Given the description of an element on the screen output the (x, y) to click on. 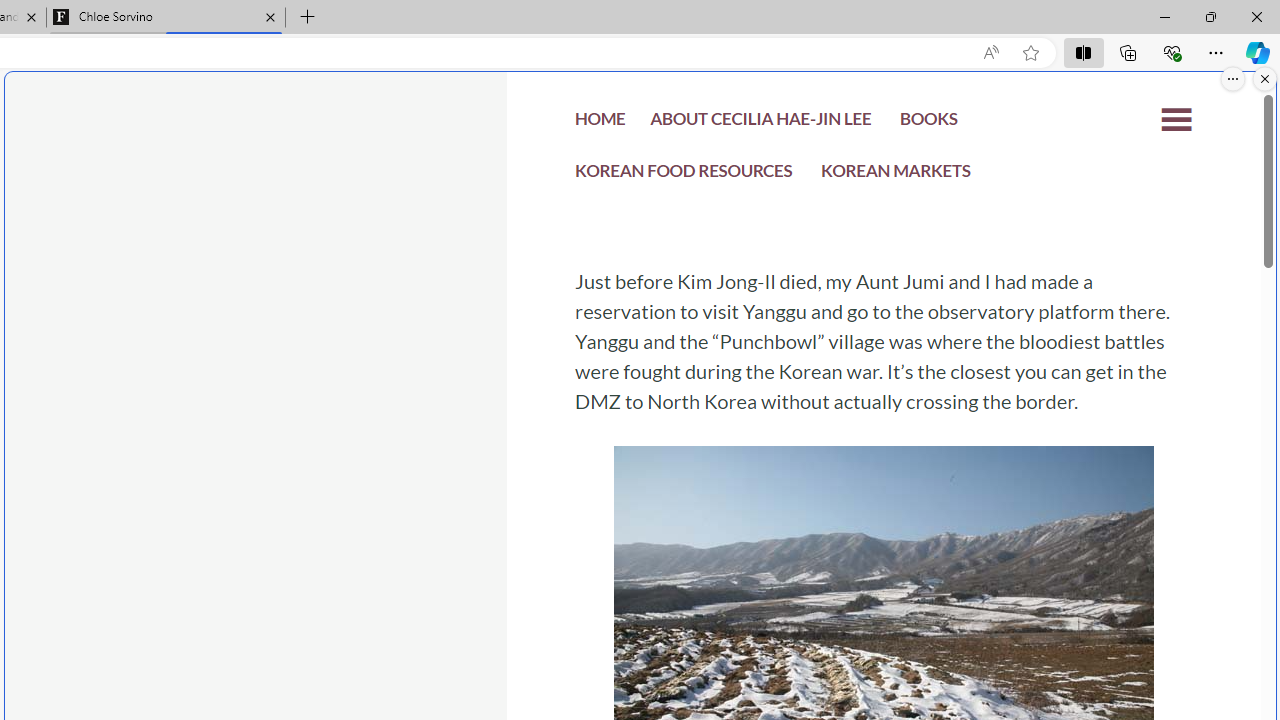
KOREAN MARKETS (895, 173)
KOREAN FOOD RESOURCES (683, 173)
Chloe Sorvino (166, 17)
ABOUT CECILIA HAE-JIN LEE (760, 124)
More options. (1233, 79)
BOOKS (928, 124)
